Given the description of an element on the screen output the (x, y) to click on. 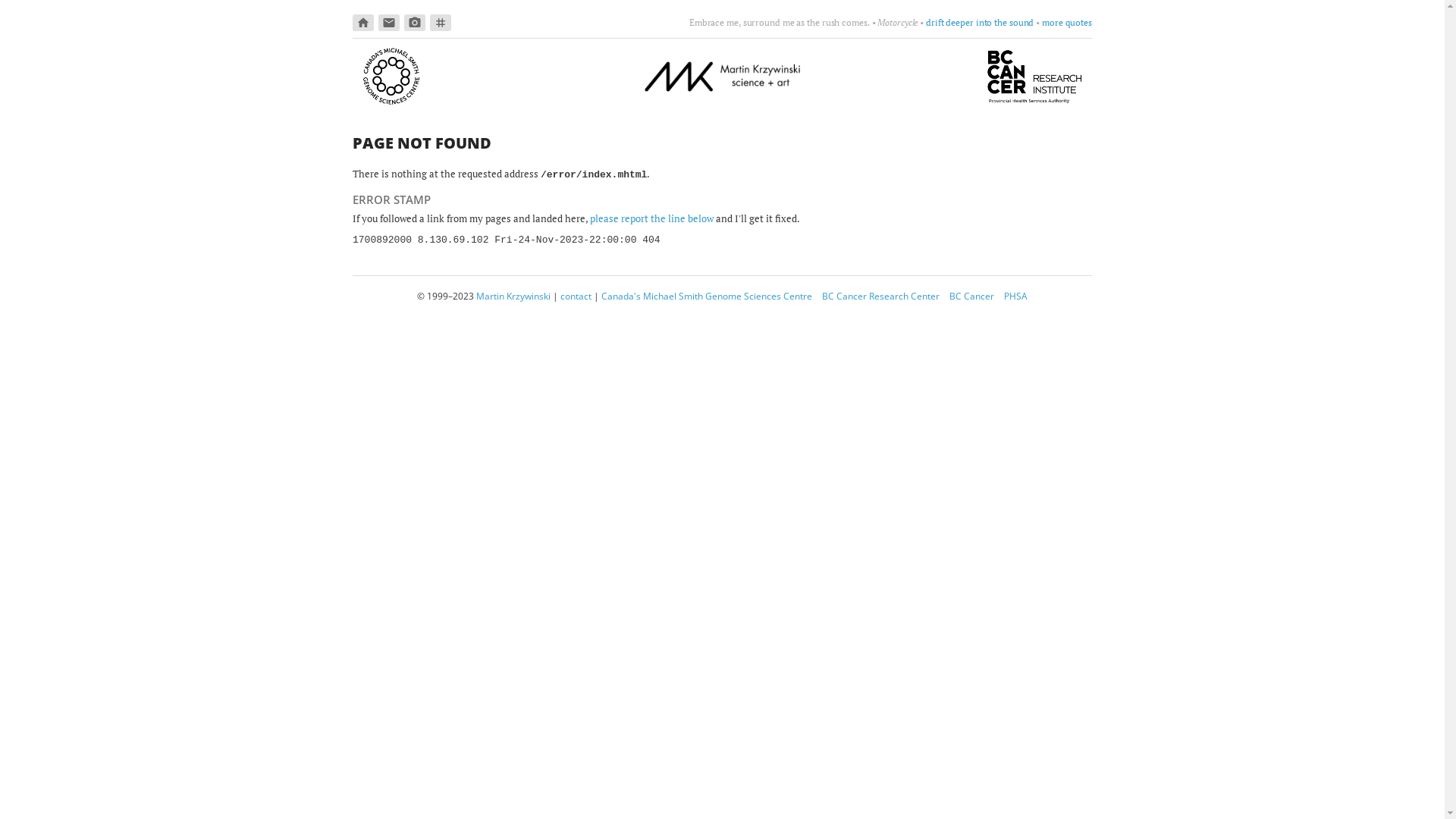
email Element type: text (388, 22)
Martin Krzywinski Element type: text (513, 295)
PHSA Element type: text (1015, 295)
Canada's Michael Smith Genome Sciences Centre Element type: text (706, 295)
BC Cancer Element type: text (971, 295)
home Element type: text (362, 22)
more quotes Element type: text (1066, 22)
please report the line below Element type: text (651, 218)
contact Element type: text (575, 295)
photo_camera Element type: text (414, 22)
BC Cancer Research Center Element type: text (880, 295)
drift deeper into the sound Element type: text (979, 22)
tag Element type: text (440, 22)
